Given the description of an element on the screen output the (x, y) to click on. 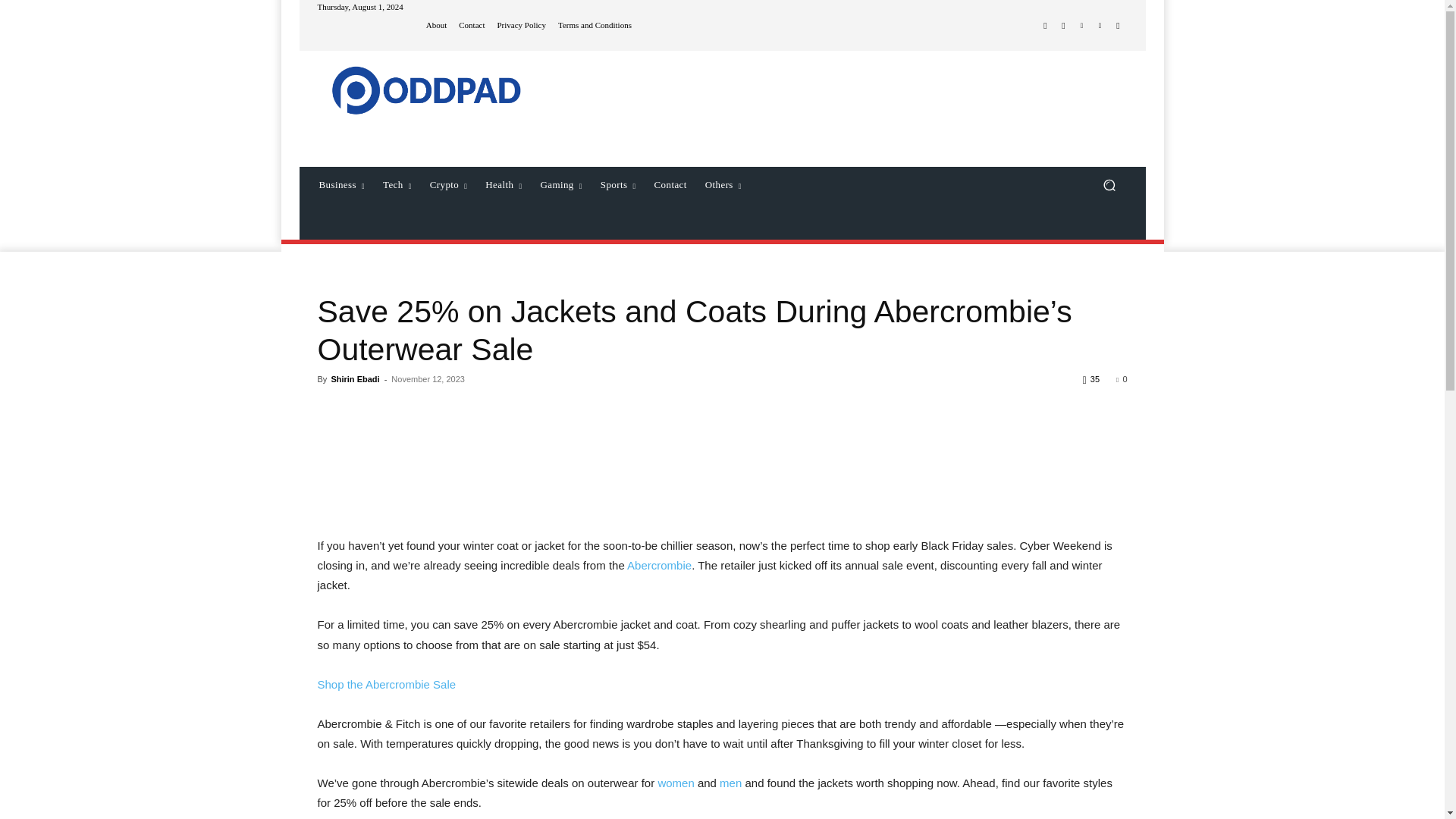
Youtube (1117, 25)
Contact (471, 25)
Business (341, 185)
Terms and Conditions (594, 25)
Privacy Policy (520, 25)
About (436, 25)
Twitter (1080, 25)
Vimeo (1099, 25)
Instagram (1062, 25)
Facebook (1044, 25)
